Given the description of an element on the screen output the (x, y) to click on. 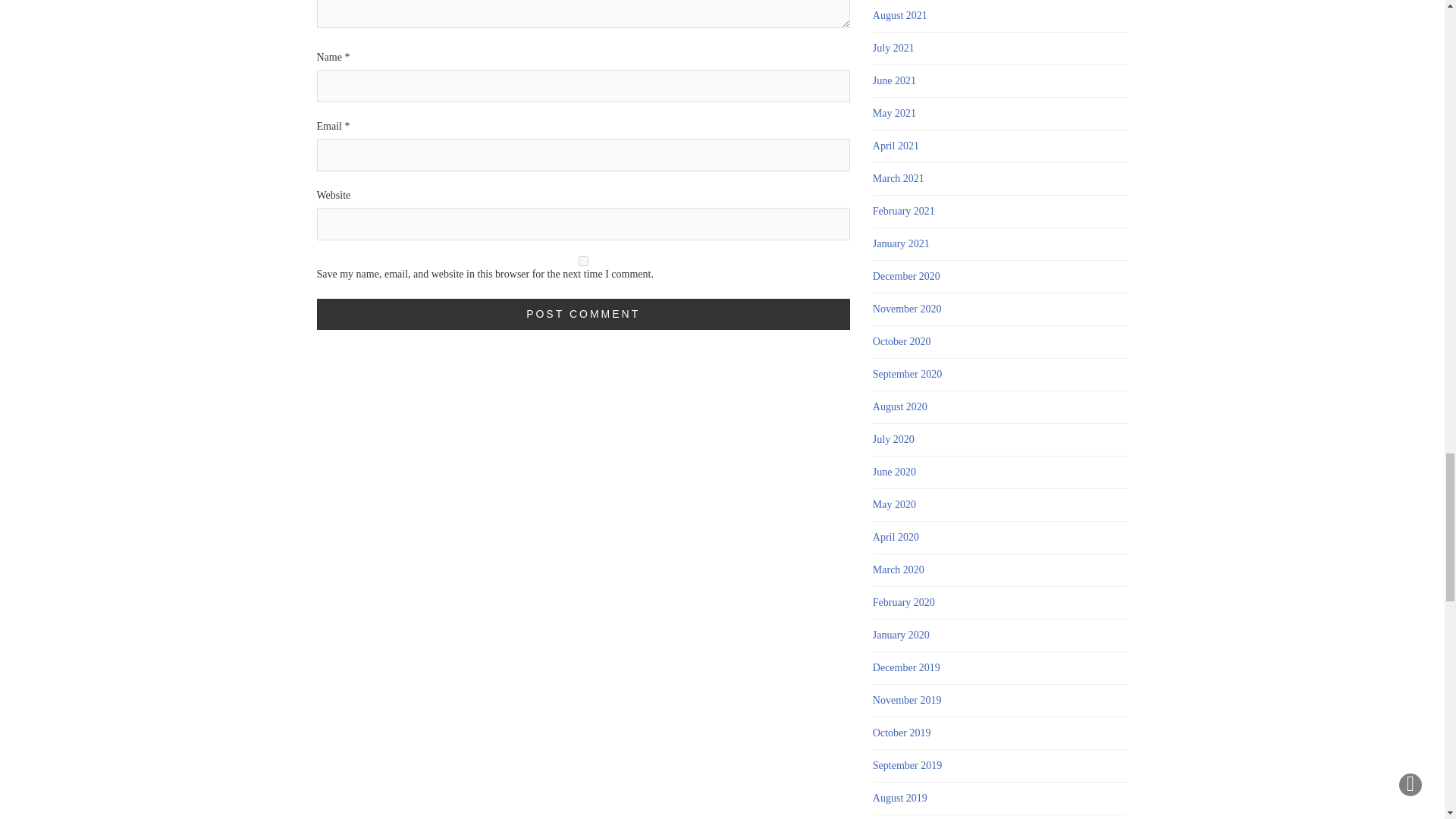
yes (583, 261)
Post Comment (583, 314)
Post Comment (583, 314)
